Given the description of an element on the screen output the (x, y) to click on. 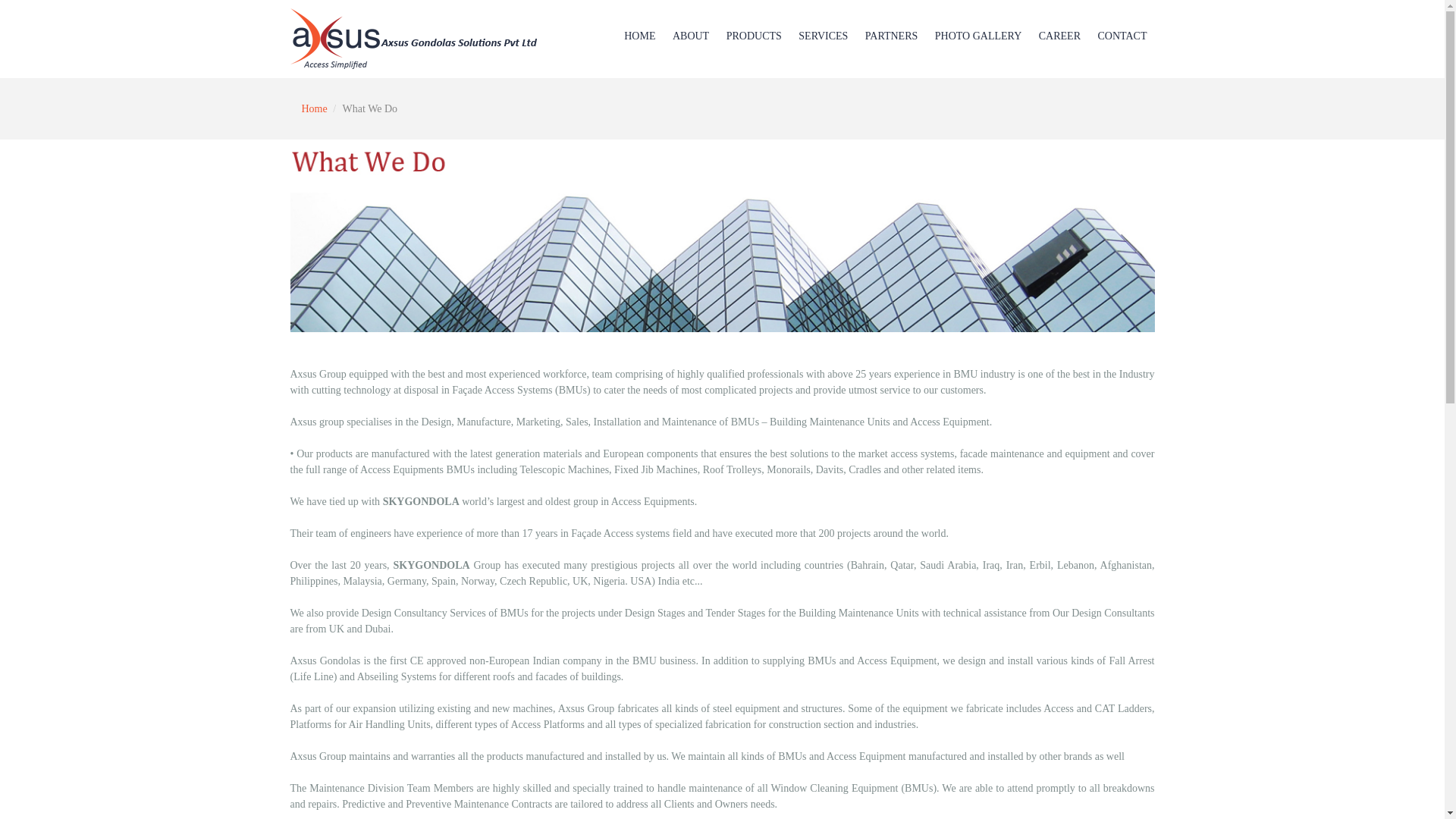
SERVICES (823, 36)
PRODUCTS (754, 36)
CONTACT (1122, 36)
Home (314, 108)
PARTNERS (890, 36)
HOME (638, 36)
ABOUT (690, 36)
CAREER (1058, 36)
PHOTO GALLERY (978, 36)
